Given the description of an element on the screen output the (x, y) to click on. 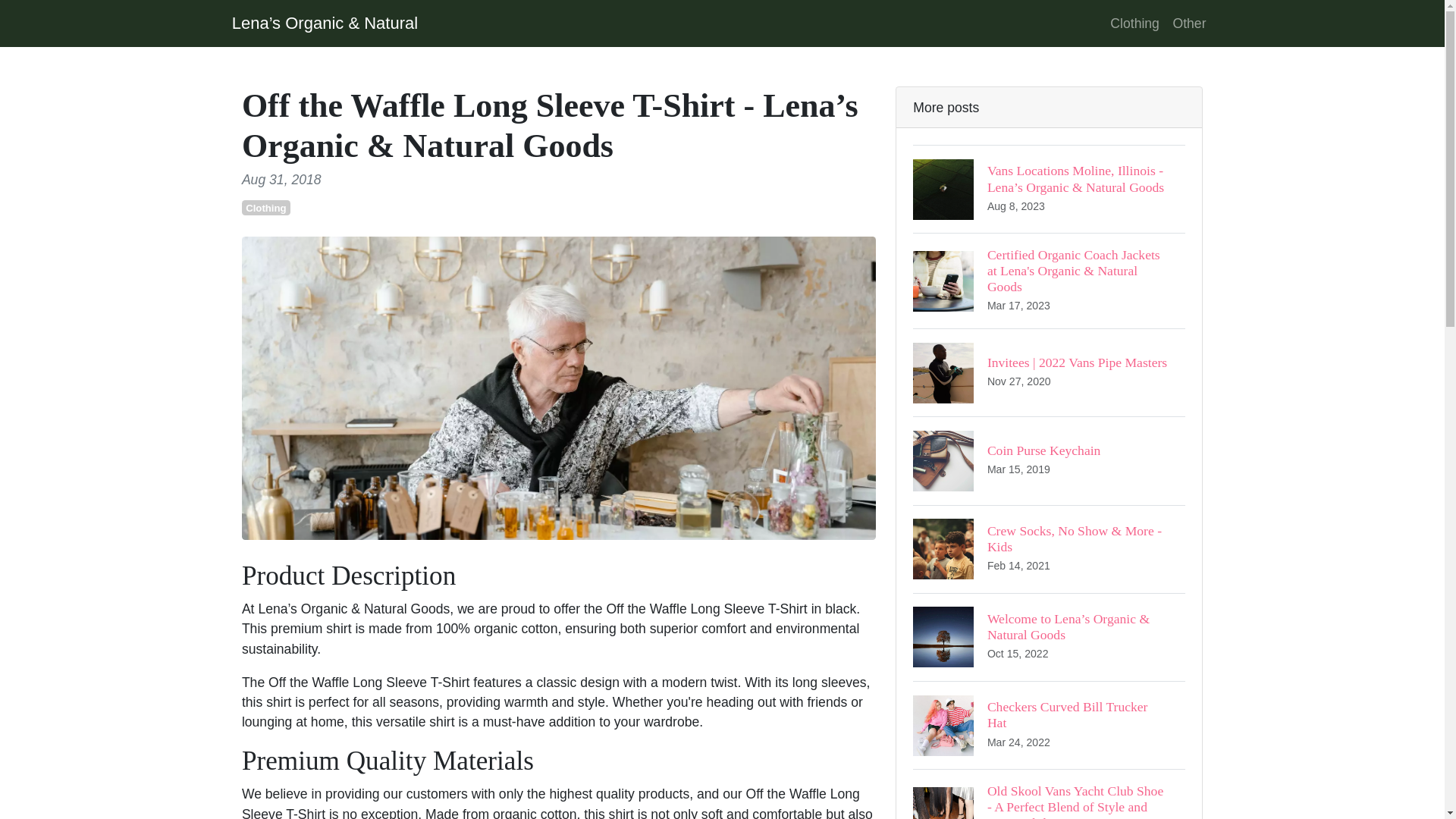
Other (1048, 460)
Clothing (1189, 23)
Clothing (1134, 23)
